Given the description of an element on the screen output the (x, y) to click on. 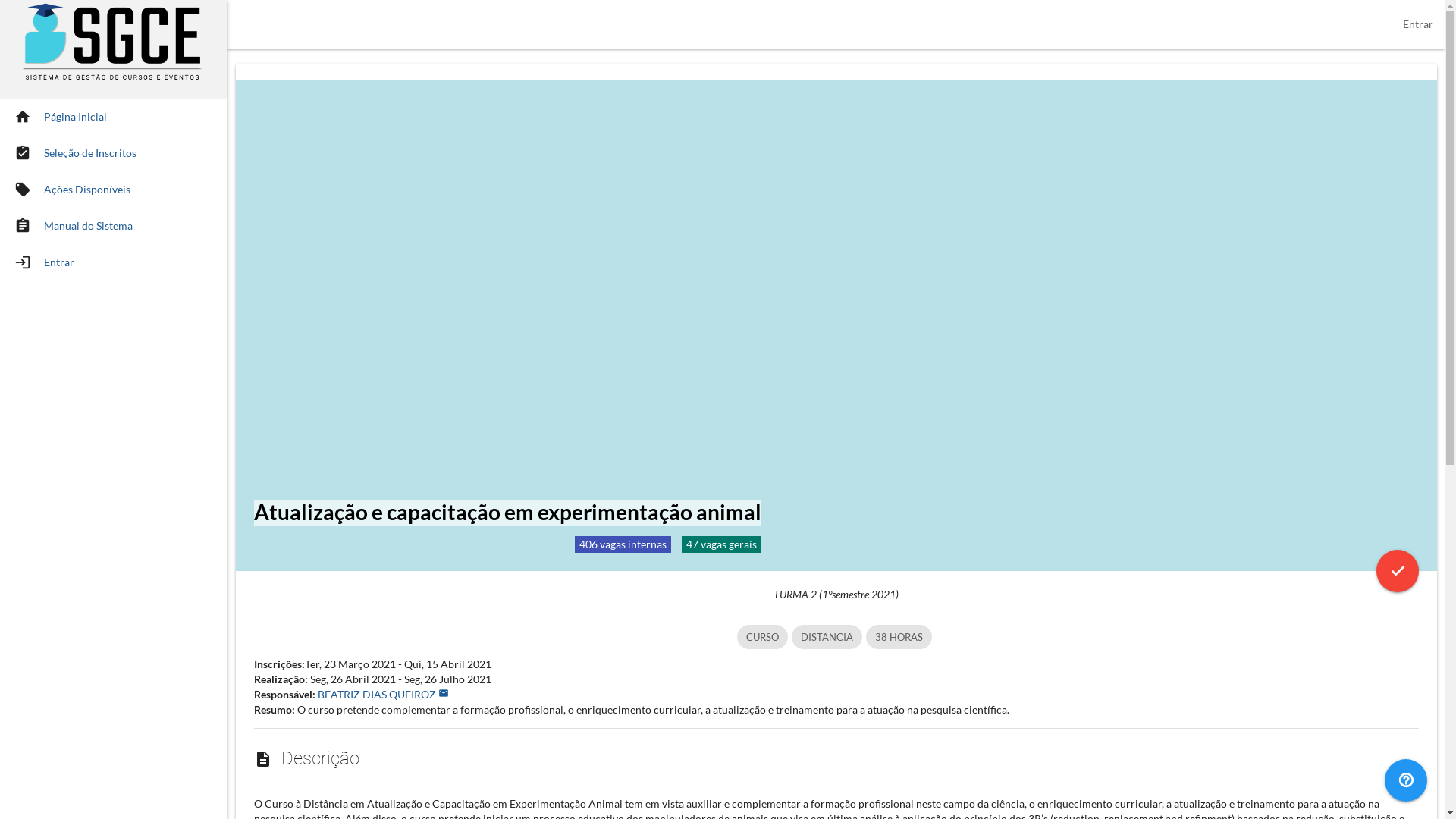
help_outline Element type: text (1405, 780)
check Element type: text (1396, 570)
Entrar Element type: text (58, 262)
Manual do Sistema Element type: text (87, 225)
Entrar Element type: text (1417, 24)
BEATRIZ DIAS QUEIROZ mail Element type: text (382, 693)
